Given the description of an element on the screen output the (x, y) to click on. 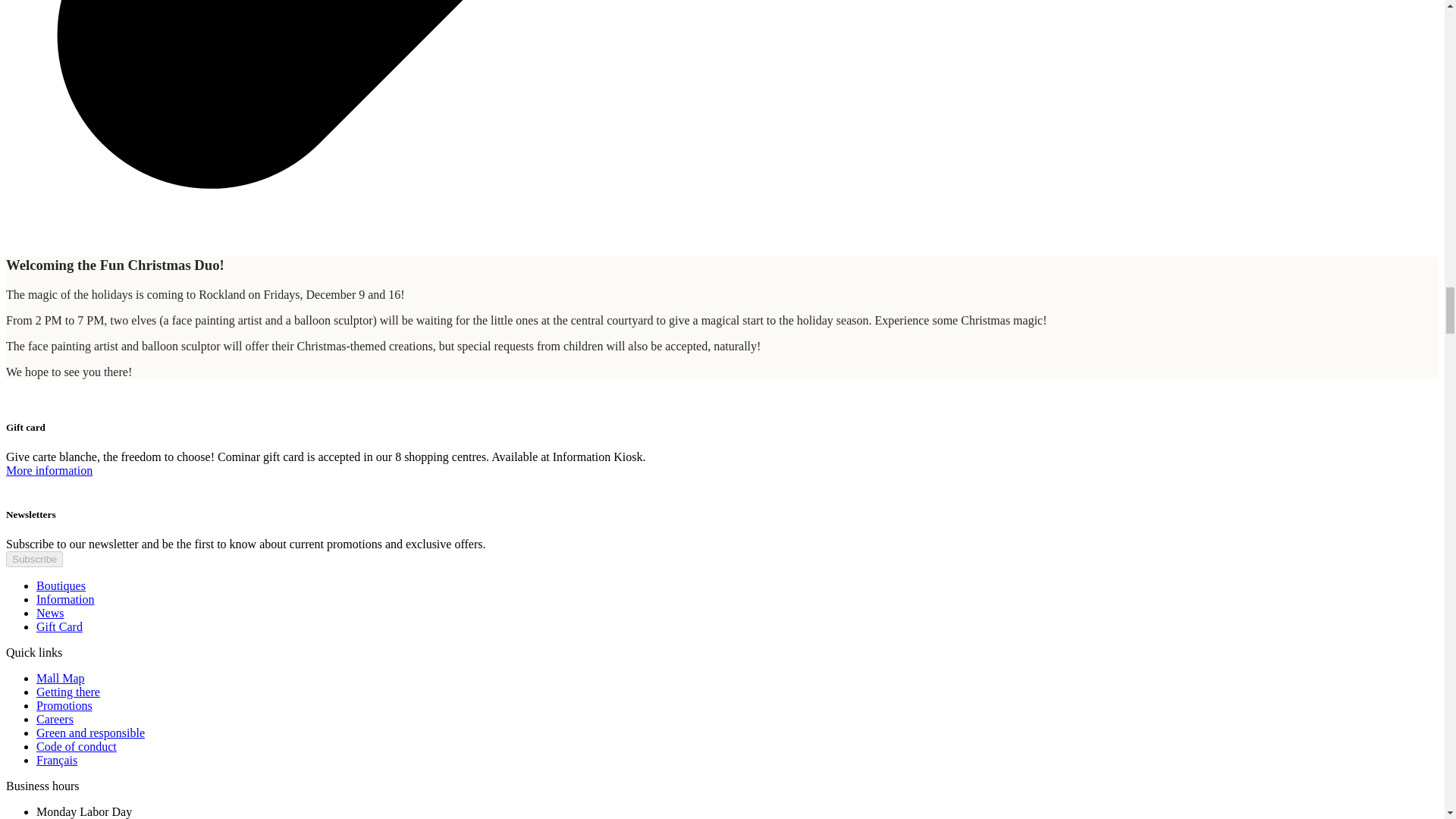
More information (49, 470)
Information (65, 599)
Gift Card (59, 626)
Promotions (64, 705)
Mall Map (60, 677)
Green and responsible (90, 732)
Careers (55, 718)
Getting there (68, 691)
News (50, 612)
Boutiques (60, 585)
